Given the description of an element on the screen output the (x, y) to click on. 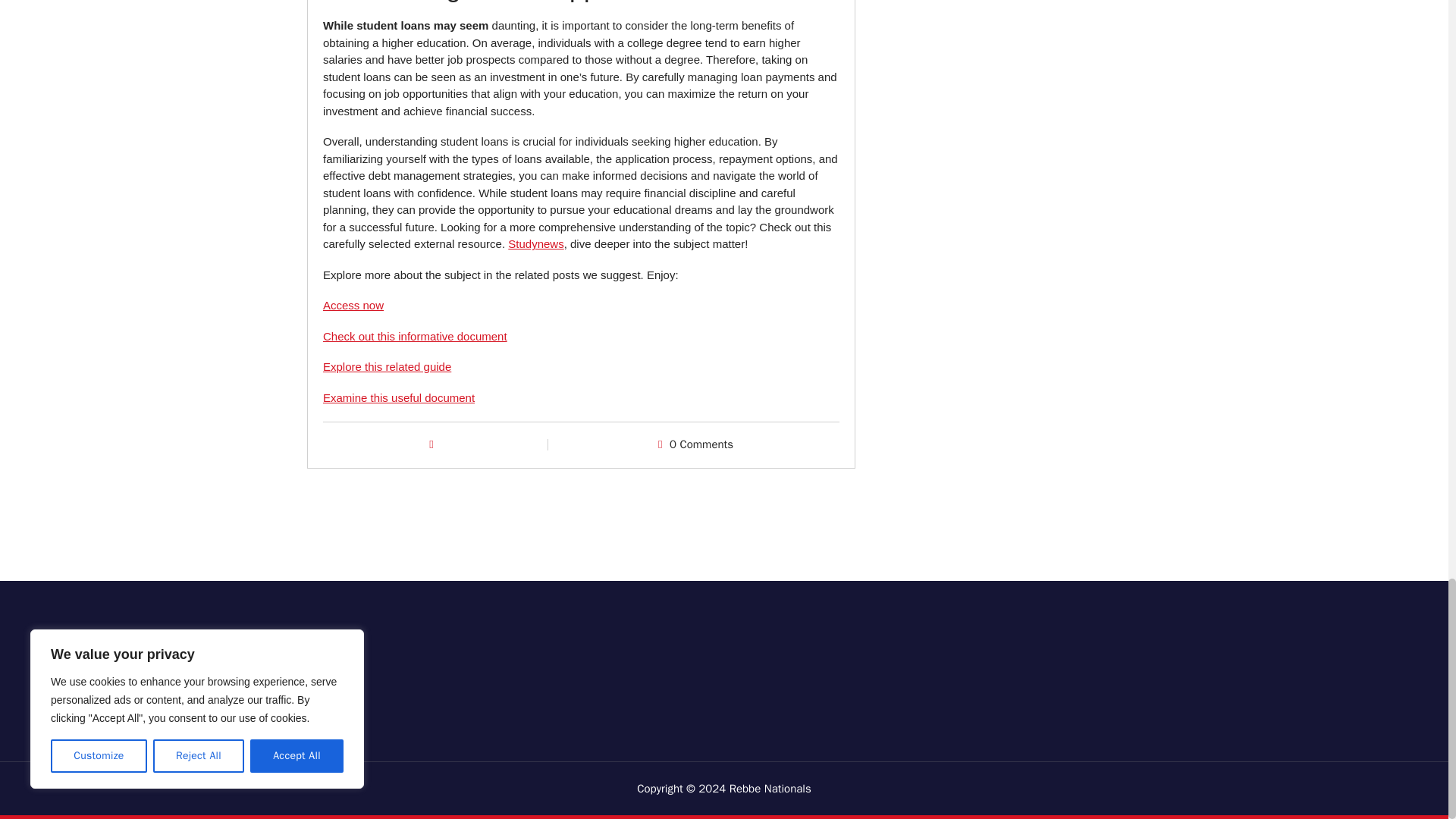
Access now (353, 305)
Studynews (535, 243)
Check out this informative document (414, 336)
Explore this related guide (387, 366)
